Given the description of an element on the screen output the (x, y) to click on. 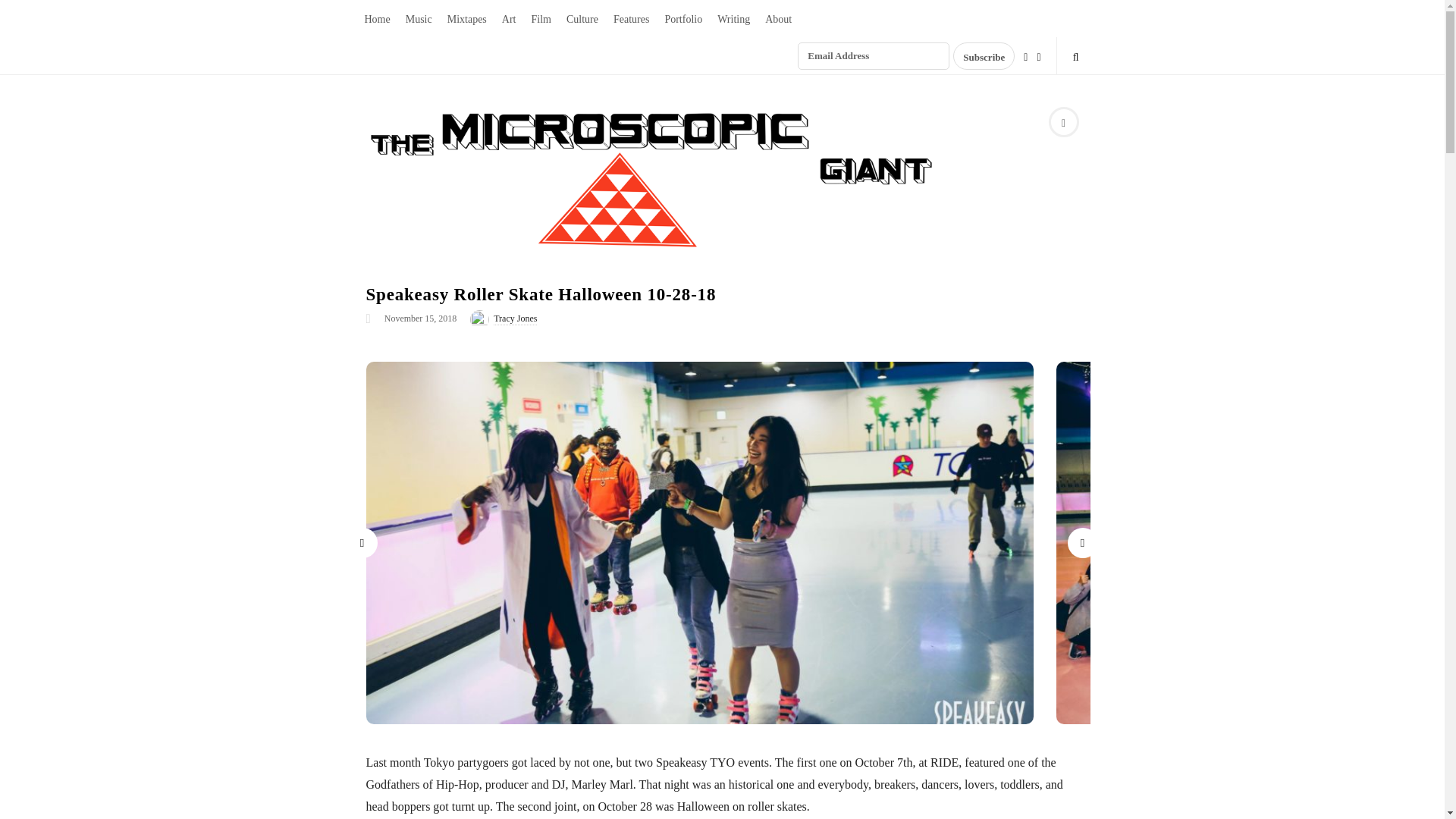
Film (539, 18)
Culture (582, 18)
Subscribe (983, 55)
Portfolio (683, 18)
Home (376, 18)
Email Address (873, 55)
Music (418, 18)
Mixtapes (467, 18)
About (778, 18)
Tracy Jones (515, 318)
